Given the description of an element on the screen output the (x, y) to click on. 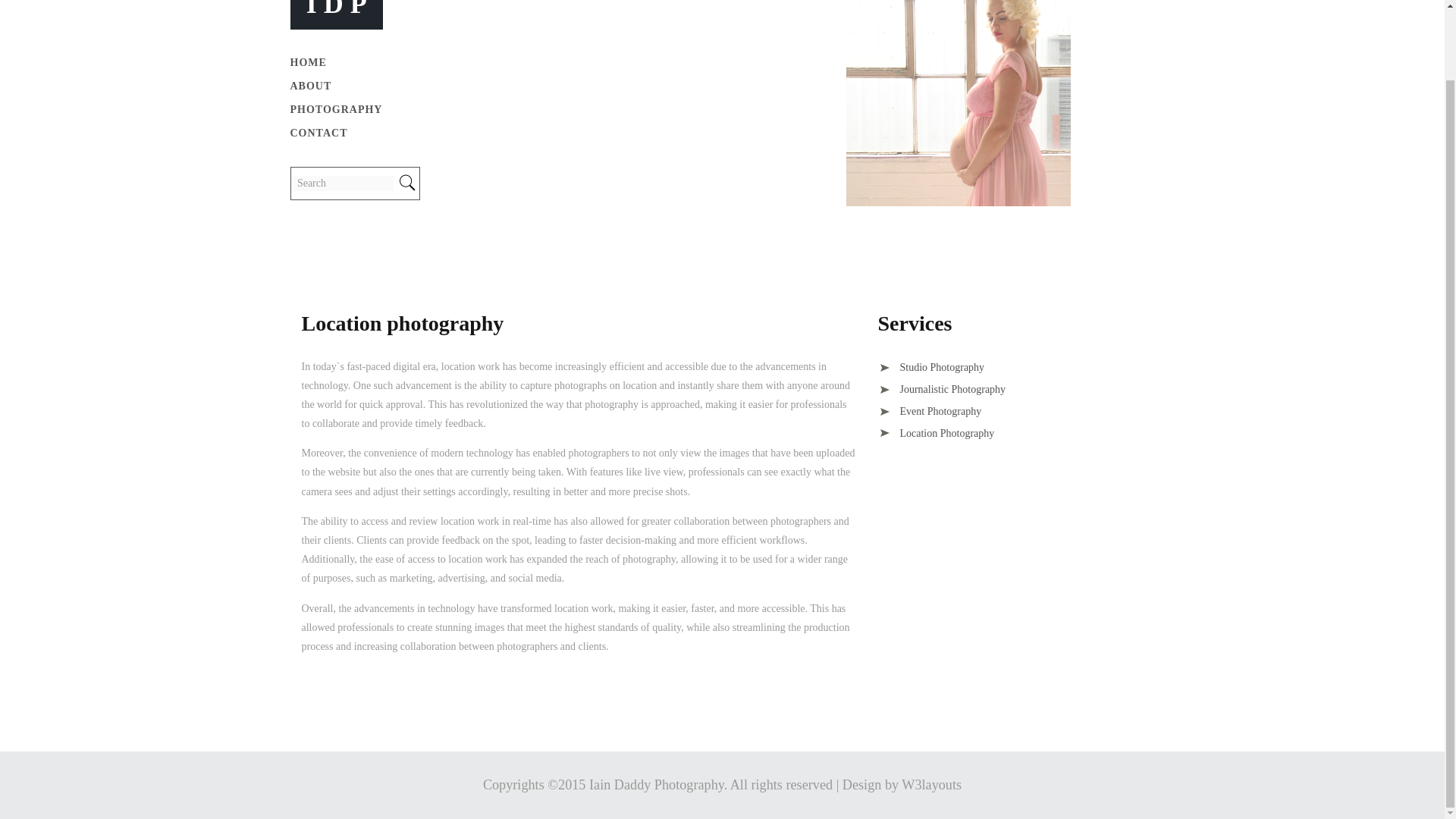
Location Photography (935, 432)
Event Photography (929, 410)
W3layouts (930, 784)
CONTACT (318, 133)
HOME (307, 62)
I D P (335, 9)
Search (342, 183)
Studio Photography (931, 367)
ABOUT (310, 85)
Journalistic Photography (941, 389)
PHOTOGRAPHY (335, 109)
